Given the description of an element on the screen output the (x, y) to click on. 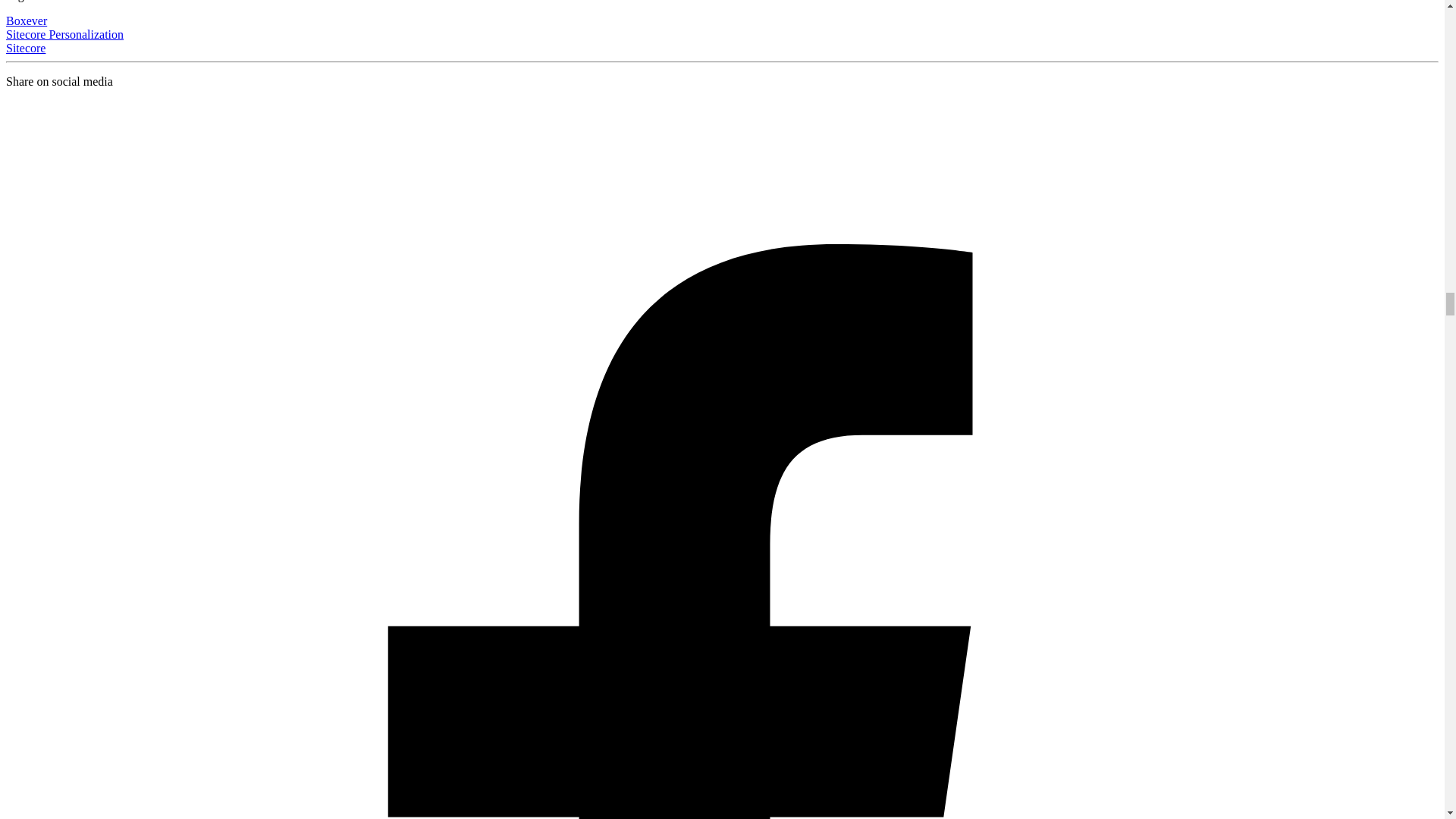
Sitecore Personalization (64, 33)
Sitecore (25, 47)
Boxever (25, 20)
